Given the description of an element on the screen output the (x, y) to click on. 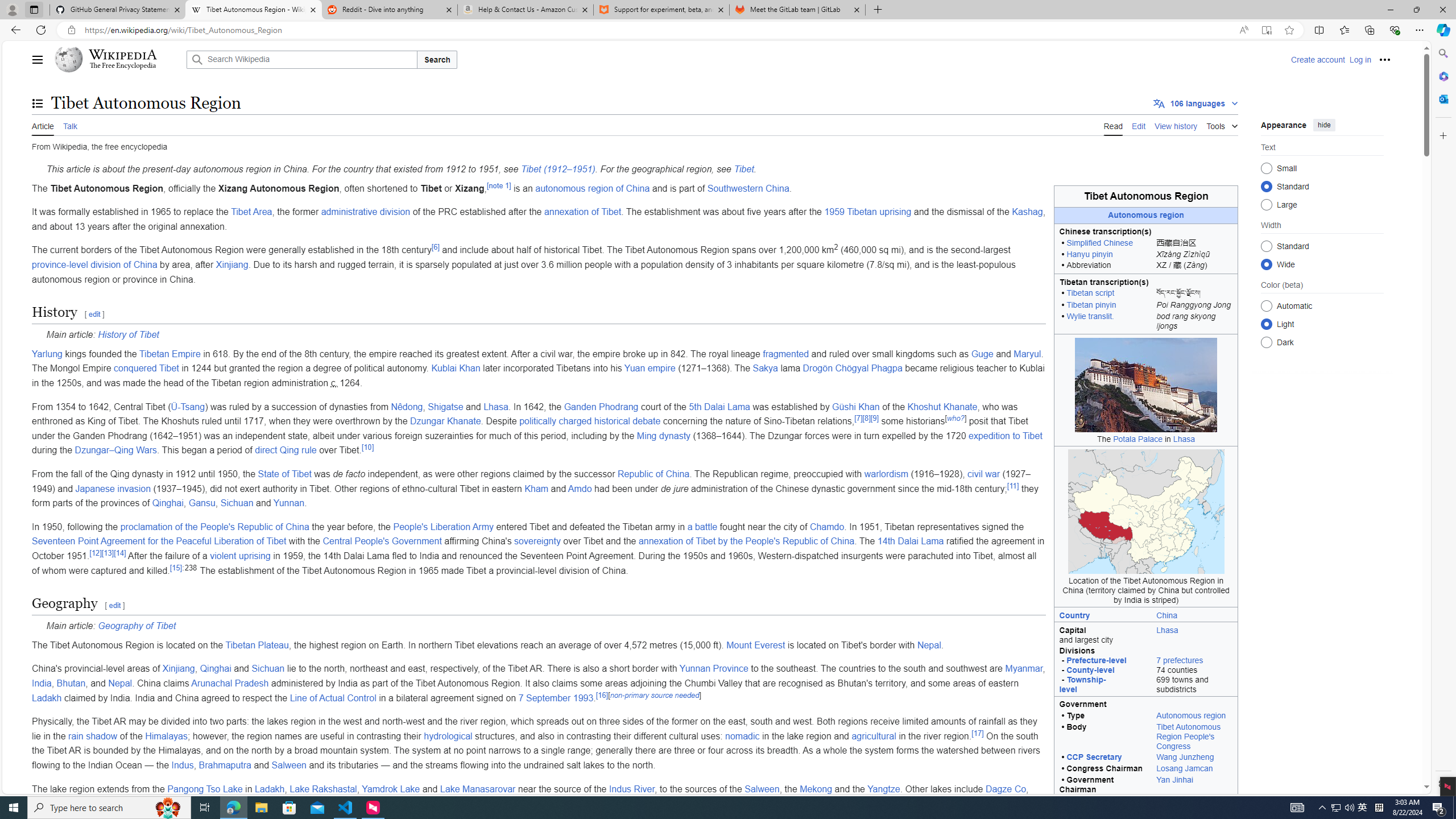
agricultural (873, 735)
Log in (1360, 58)
[10] (367, 447)
Capital and largest city (1102, 634)
Line of Actual Control (333, 697)
People's Liberation Army (443, 526)
India (42, 683)
civil war (983, 474)
Sakya (764, 368)
Kublai Khan (455, 368)
Talk (69, 124)
